Given the description of an element on the screen output the (x, y) to click on. 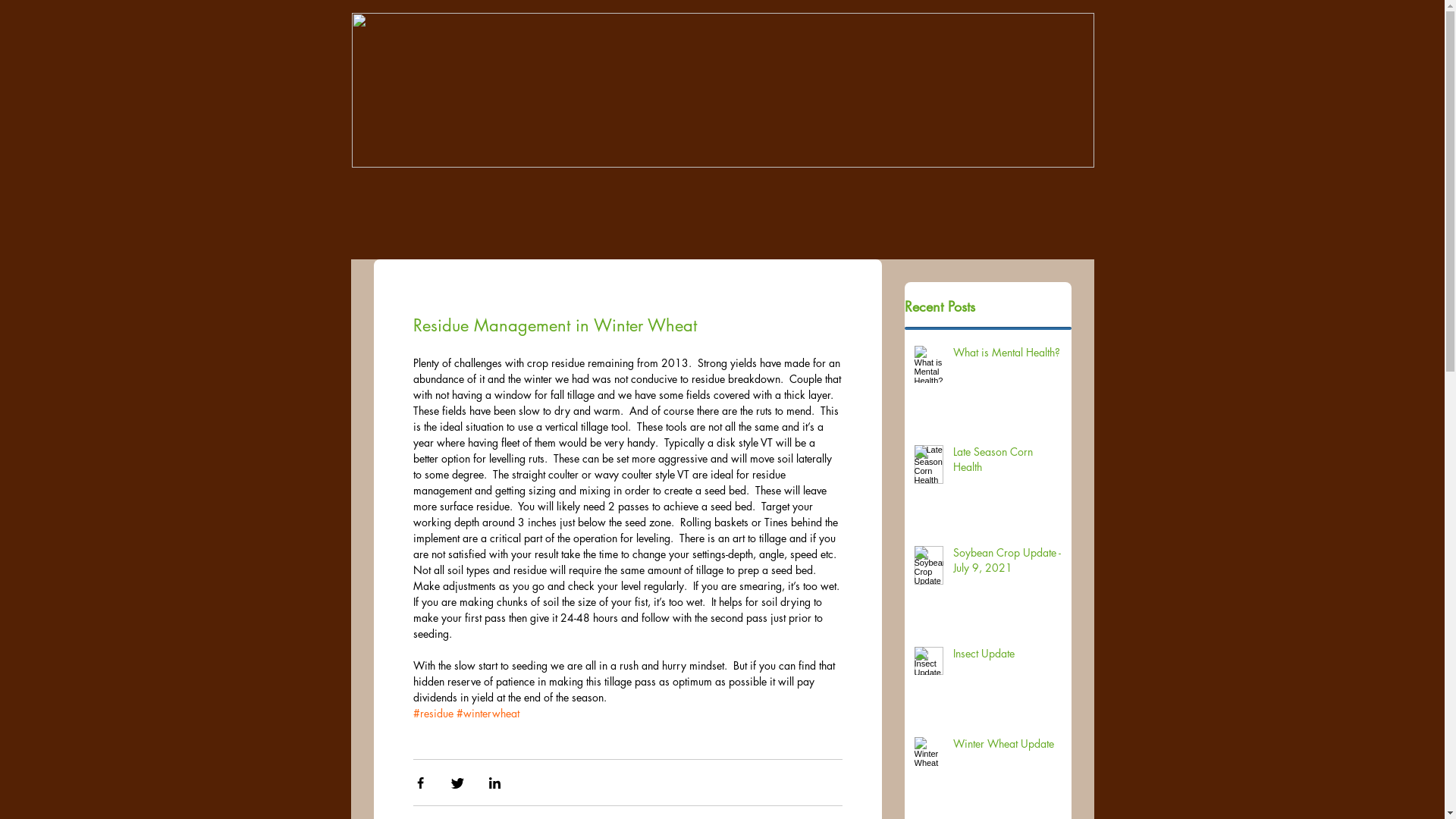
Insect Update Element type: text (1006, 656)
What is Mental Health? Element type: text (1006, 355)
Agronomy Advantage Element type: hover (722, 89)
#winterwheat Element type: text (487, 713)
Soybean Crop Update - July 9, 2021 Element type: text (1006, 562)
Late Season Corn Health Element type: text (1006, 462)
#residue Element type: text (432, 713)
Winter Wheat Update Element type: text (1006, 746)
